Given the description of an element on the screen output the (x, y) to click on. 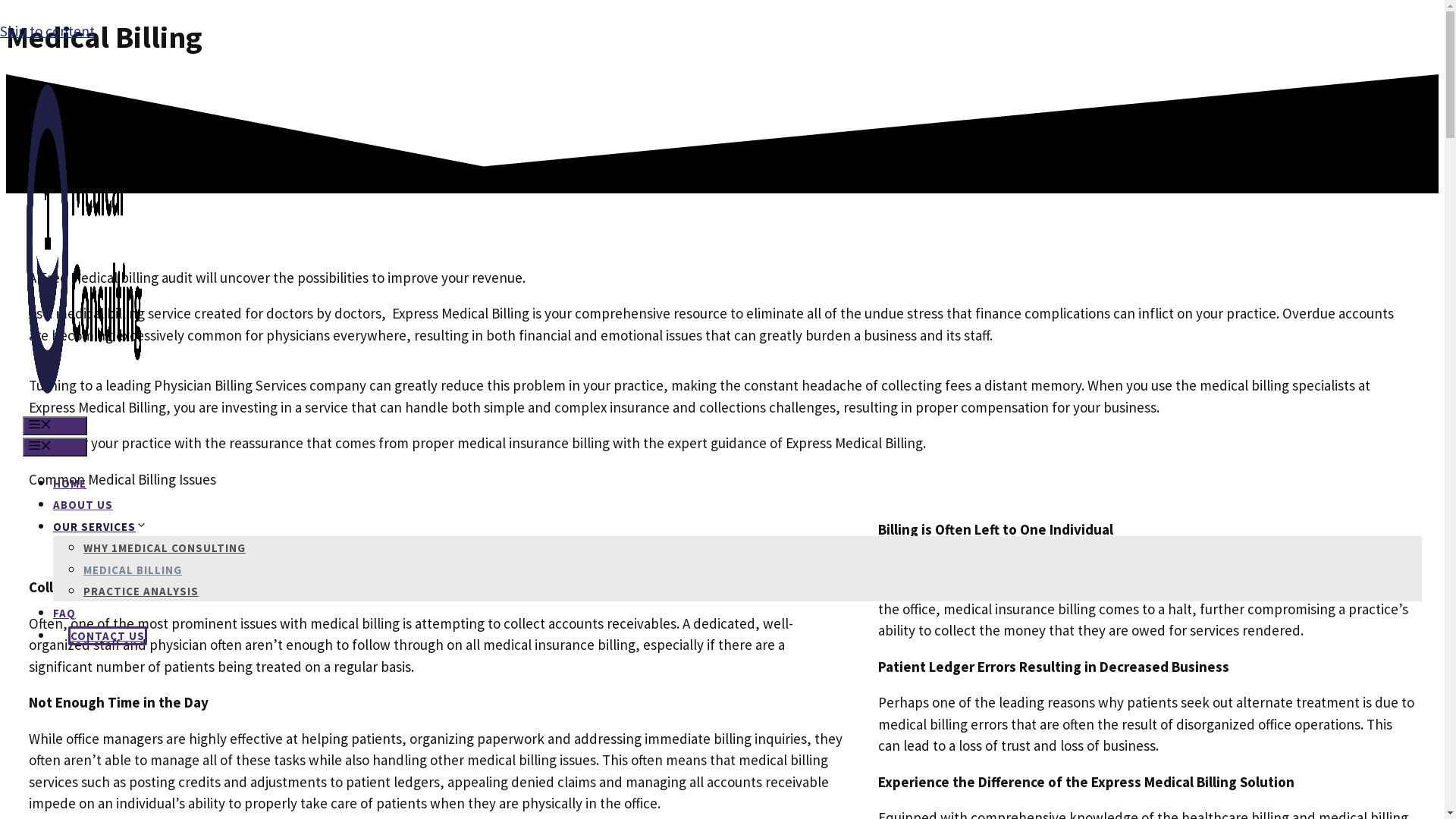
MENU Element type: text (54, 446)
MEDICAL BILLING Element type: text (132, 569)
MENU Element type: text (54, 425)
PRACTICE ANALYSIS Element type: text (140, 590)
OUR SERVICES Element type: text (100, 526)
HOME Element type: text (69, 483)
FAQ Element type: text (64, 612)
WHY 1MEDICAL CONSULTING Element type: text (164, 547)
Skip to content Element type: text (47, 30)
ABOUT US Element type: text (82, 504)
CONTACT US Element type: text (107, 635)
